Given the description of an element on the screen output the (x, y) to click on. 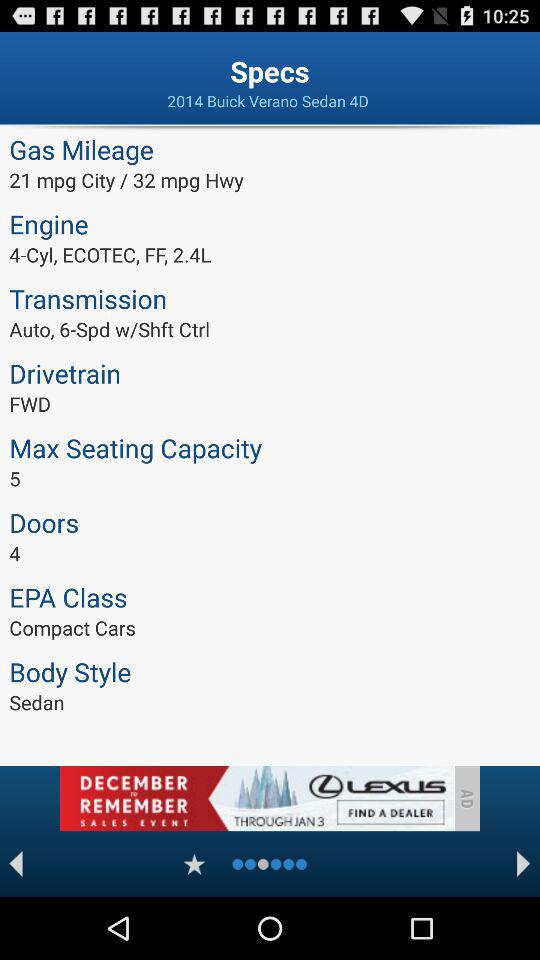
bak ward (16, 864)
